Given the description of an element on the screen output the (x, y) to click on. 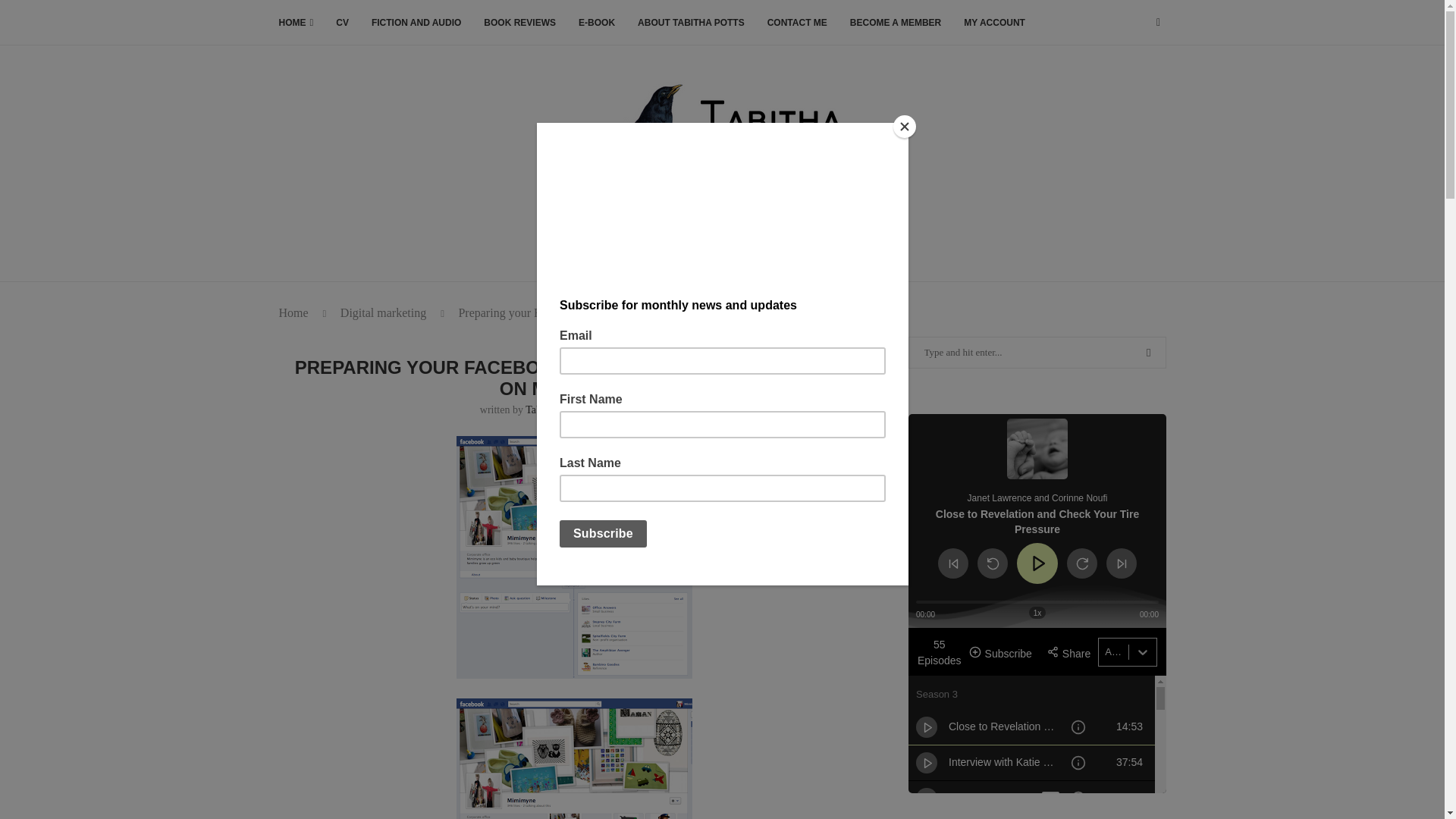
BOOK REVIEWS (519, 22)
Digital marketing (573, 342)
Screen-shot-2012-03-08-at-23.11.27-1 (575, 556)
Tabithapotts (551, 409)
BECOME A MEMBER (895, 22)
Digital marketing (383, 312)
MY ACCOUNT (994, 22)
CONTACT ME (797, 22)
FICTION AND AUDIO (416, 22)
ABOUT TABITHA POTTS (690, 22)
Home (293, 312)
